Given the description of an element on the screen output the (x, y) to click on. 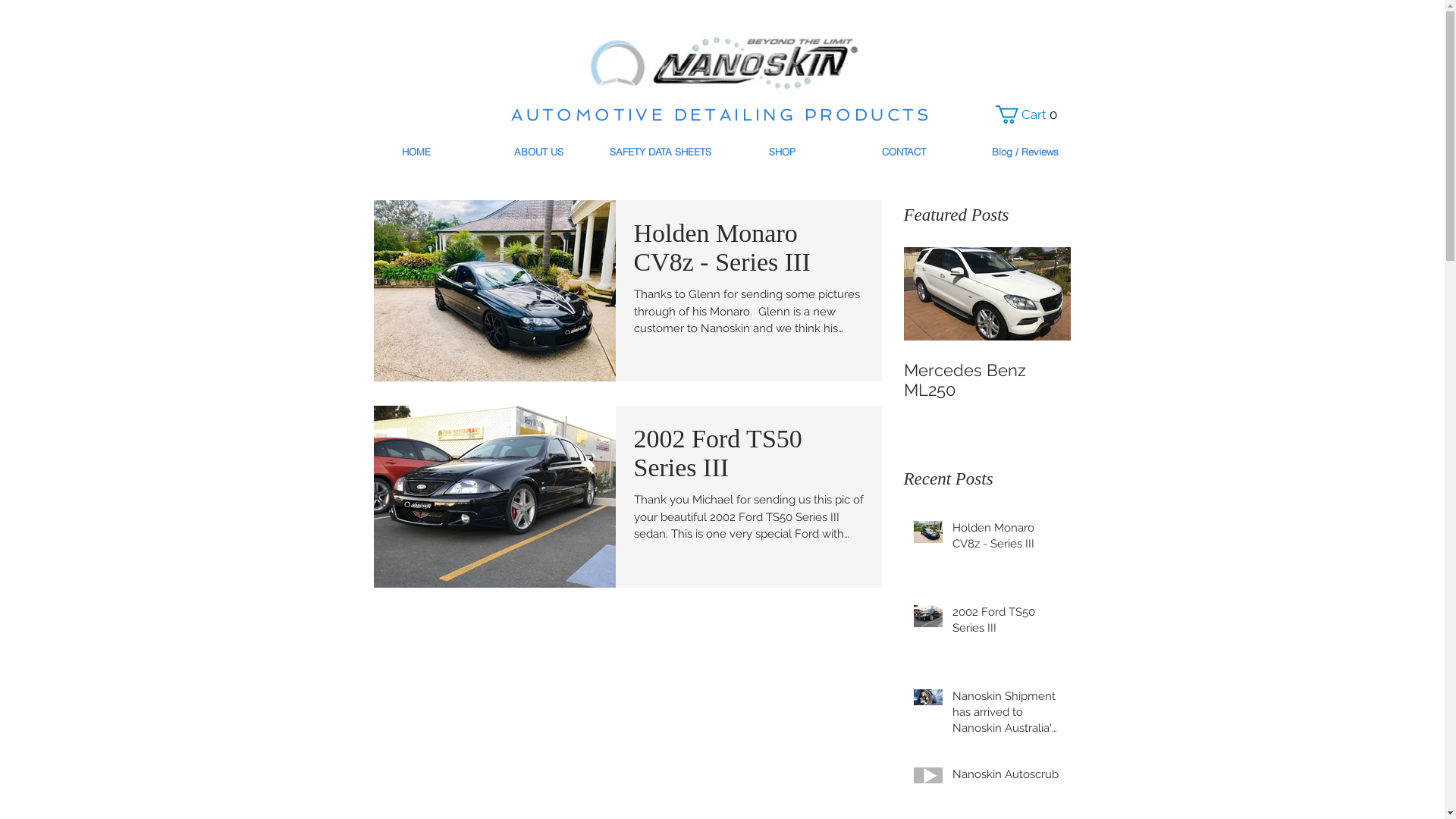
AUTOMOTIVE DETAILING PRODUCTS Element type: text (721, 114)
Mercedes Benz ML250 Element type: text (986, 379)
Blog / Reviews Element type: text (1024, 151)
Cart
0 Element type: text (1028, 114)
SHOP Element type: text (782, 151)
CONTACT Element type: text (903, 151)
ABOUT US Element type: text (538, 151)
2002 Ford TS50 Series III Element type: text (1006, 623)
HOME Element type: text (415, 151)
Holden Monaro CV8z - Series III Element type: text (1006, 539)
SAFETY DATA SHEETS Element type: text (660, 151)
Nanoskin Autoscrub Element type: text (1006, 777)
Holden Monaro CV8z - Series III Element type: text (748, 251)
2002 Ford TS50 Series III Element type: text (748, 457)
